Given the description of an element on the screen output the (x, y) to click on. 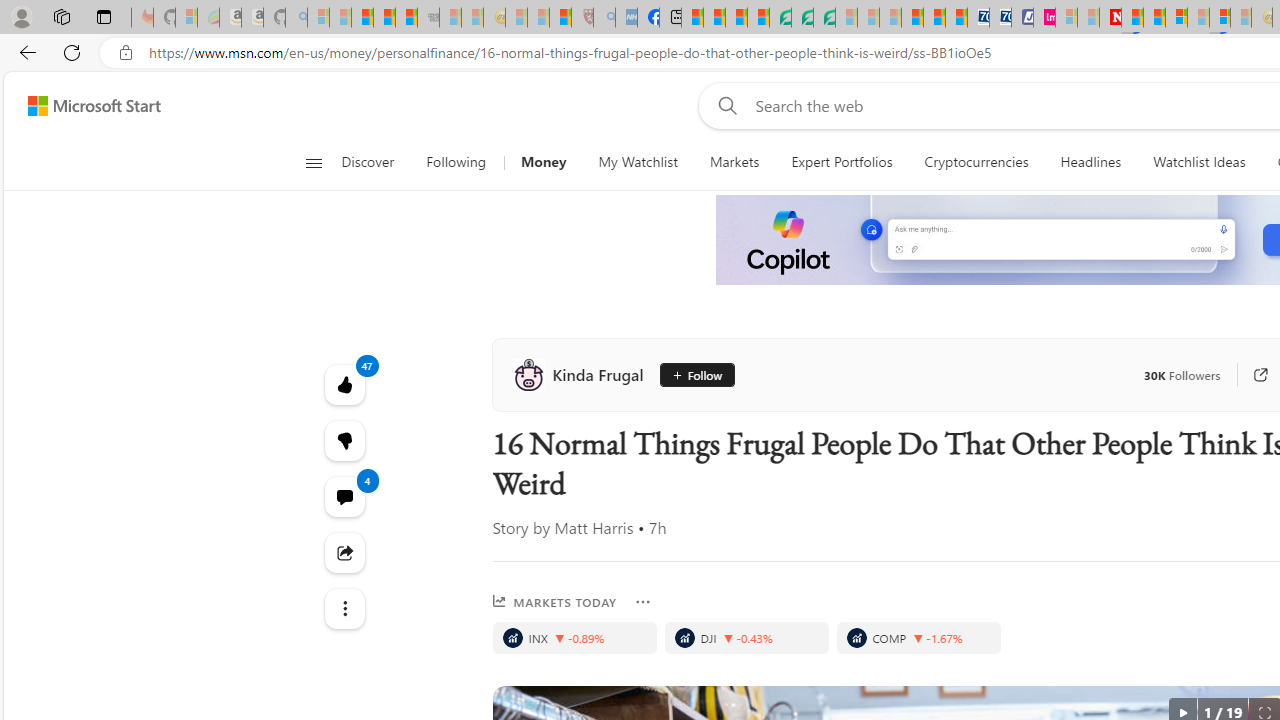
Cheap Car Rentals - Save70.com (978, 17)
My Watchlist (637, 162)
Kinda Frugal (581, 374)
View comments 4 Comment (343, 496)
Cheap Hotels - Save70.com (1000, 17)
Go to publisher's site (1250, 374)
Headlines (1090, 162)
